Given the description of an element on the screen output the (x, y) to click on. 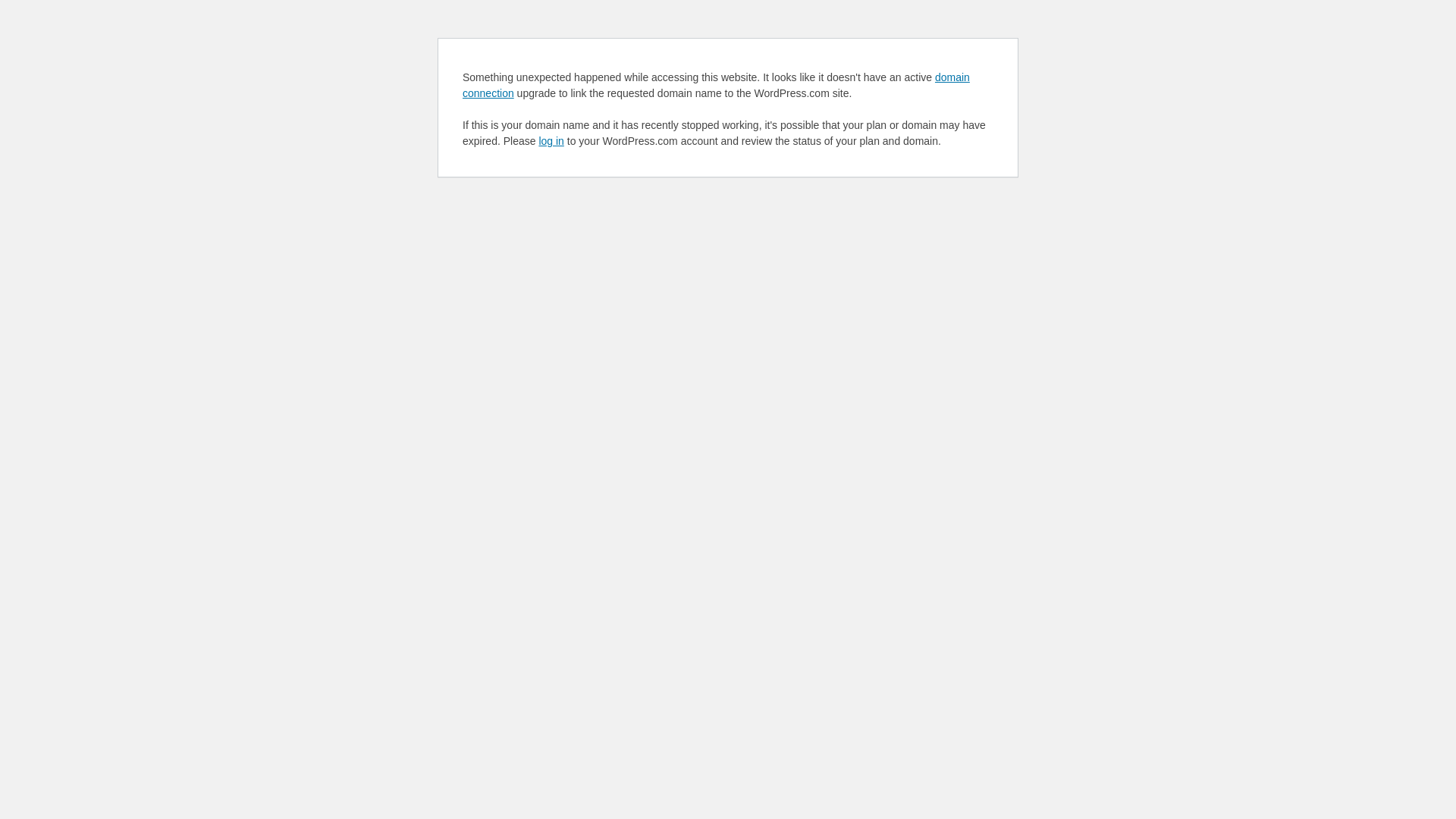
log in Element type: text (550, 140)
domain connection Element type: text (715, 85)
